Given the description of an element on the screen output the (x, y) to click on. 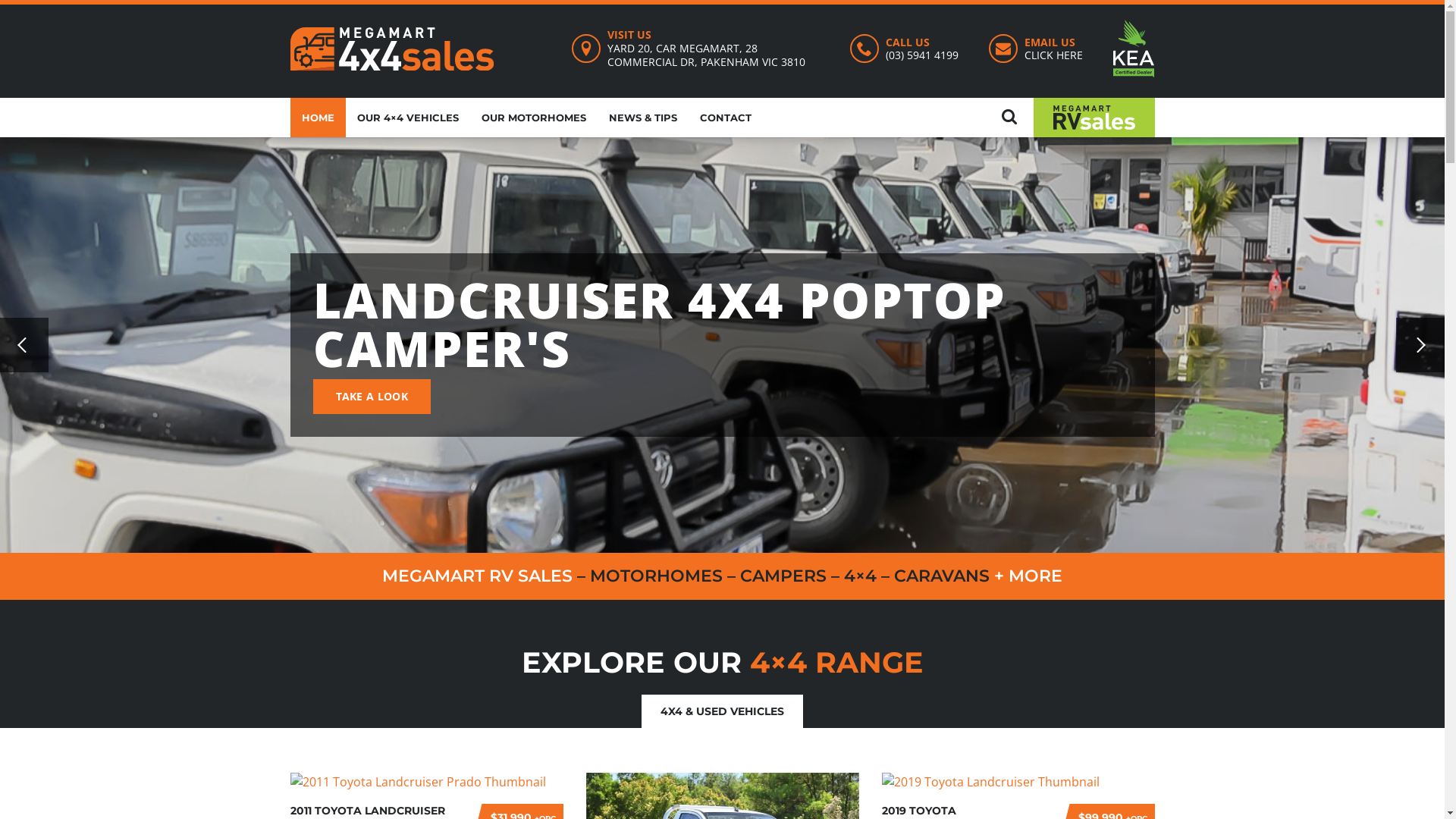
4X4 & USED VEHICLES Element type: text (722, 711)
NEWS & TIPS Element type: text (642, 117)
CLICK HERE Element type: text (1053, 55)
CONTACT Element type: text (725, 117)
HOME Element type: text (317, 117)
(03) 5941 4199 Element type: text (921, 55)
OUR MOTORHOMES Element type: text (533, 117)
TAKE A LOOK Element type: text (370, 396)
YARD 20, CAR MEGAMART, 28 COMMERCIAL DR, PAKENHAM VIC 3810 Element type: text (706, 54)
